Given the description of an element on the screen output the (x, y) to click on. 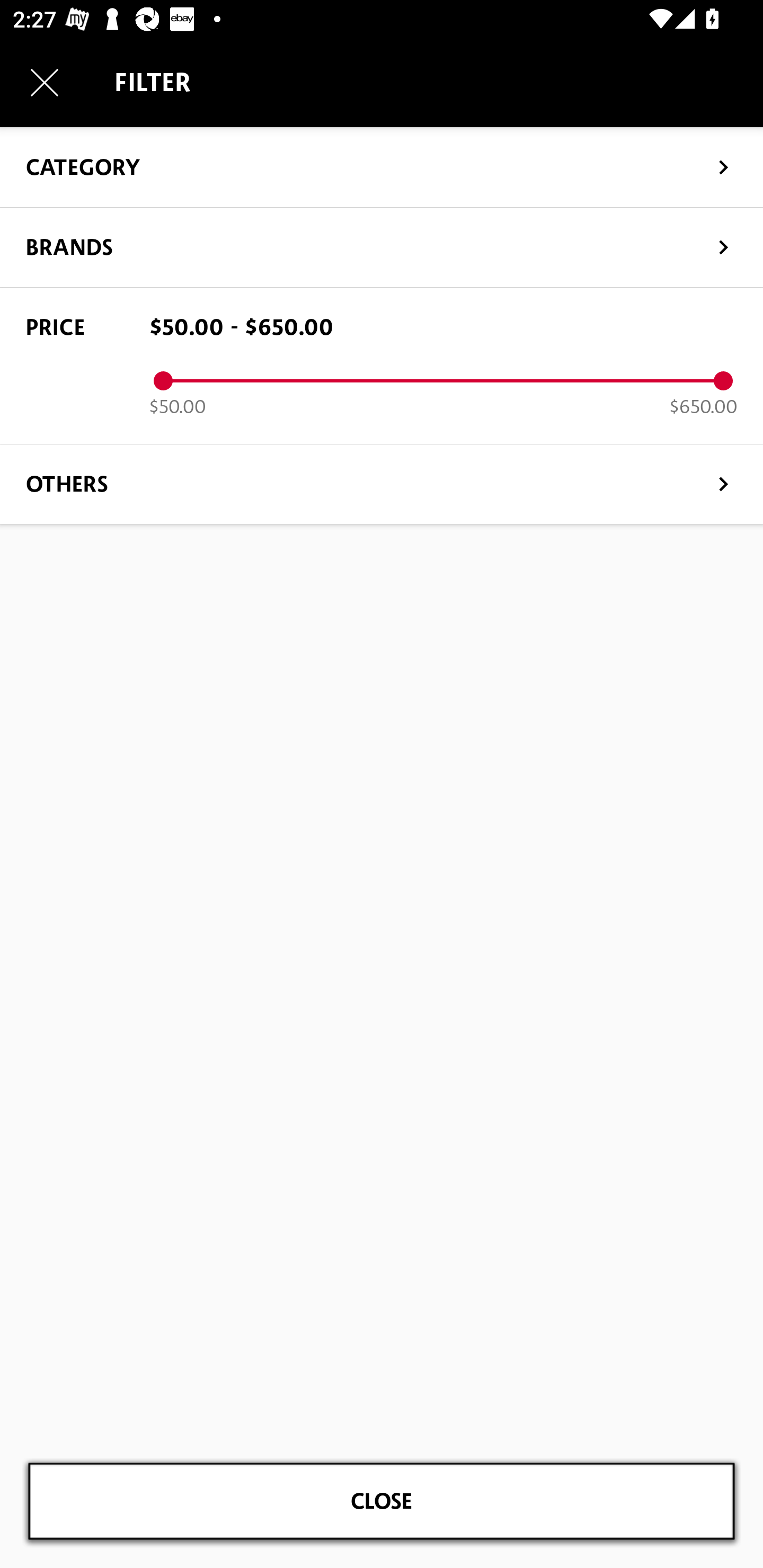
Navigate up (44, 82)
CATEGORY (381, 166)
BRANDS (381, 246)
OTHERS (381, 483)
CLOSE (381, 1501)
